Given the description of an element on the screen output the (x, y) to click on. 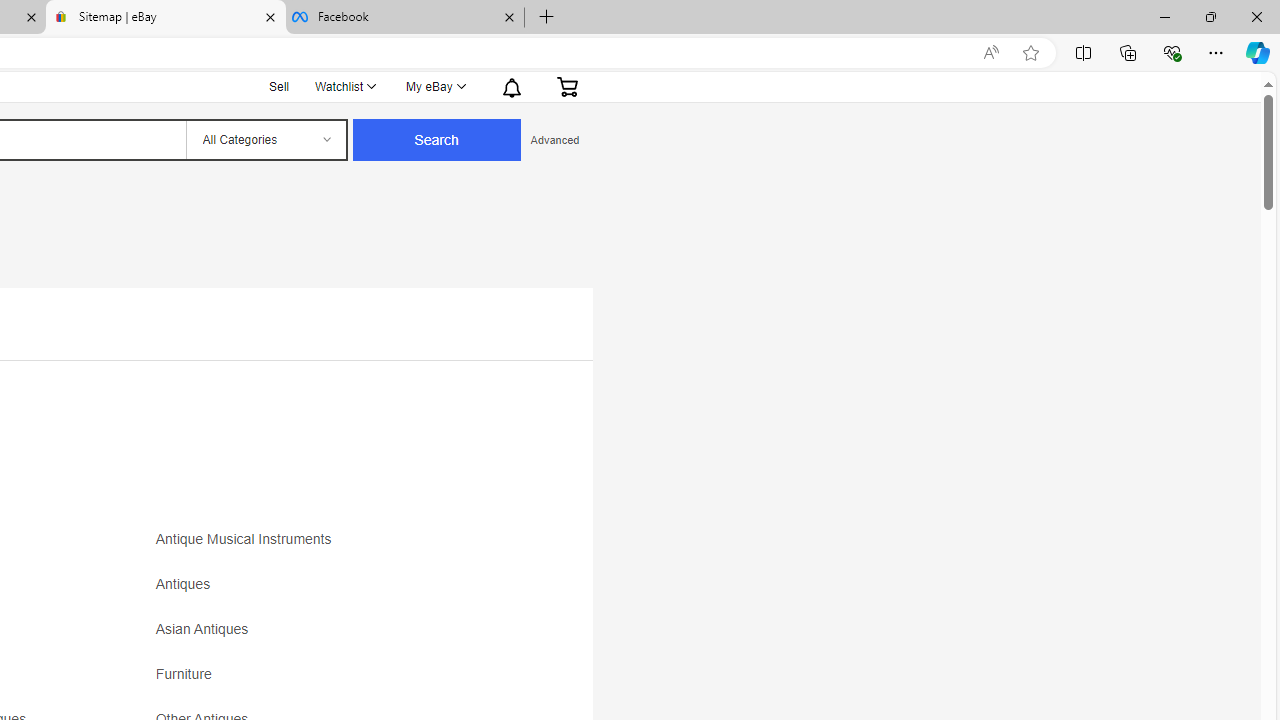
Furniture (187, 673)
Expand Cart (567, 86)
Antique Musical Instruments (247, 539)
Sitemap | eBay (166, 17)
Furniture (332, 681)
Antique Musical Instruments (332, 546)
Sell (279, 86)
